Given the description of an element on the screen output the (x, y) to click on. 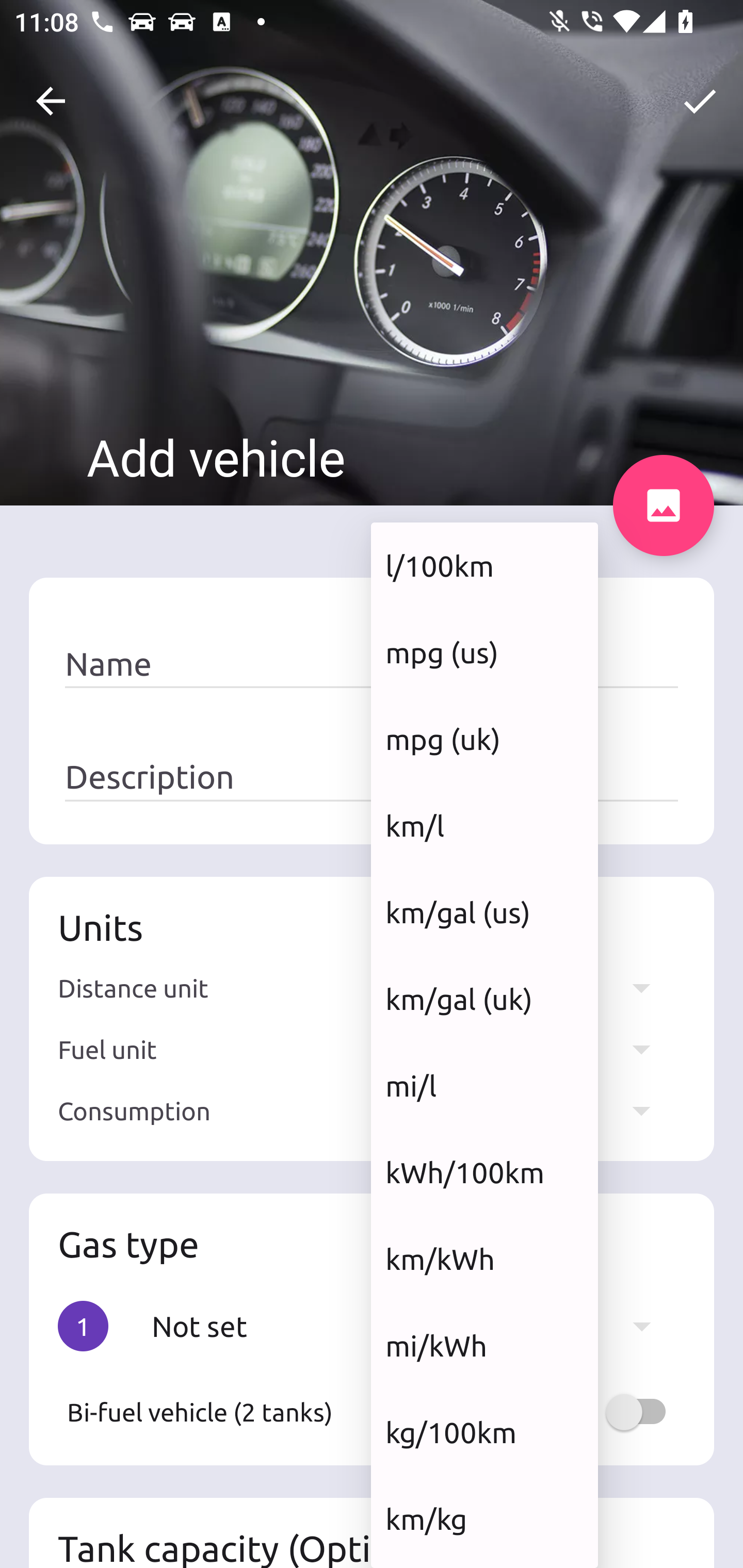
l/100km (484, 565)
mpg (us) (484, 652)
mpg (uk) (484, 739)
km/l (484, 825)
km/gal (us) (484, 912)
km/gal (uk) (484, 999)
mi/l (484, 1085)
kWh/100km (484, 1171)
km/kWh (484, 1259)
mi/kWh (484, 1346)
kg/100km (484, 1432)
km/kg (484, 1518)
